Given the description of an element on the screen output the (x, y) to click on. 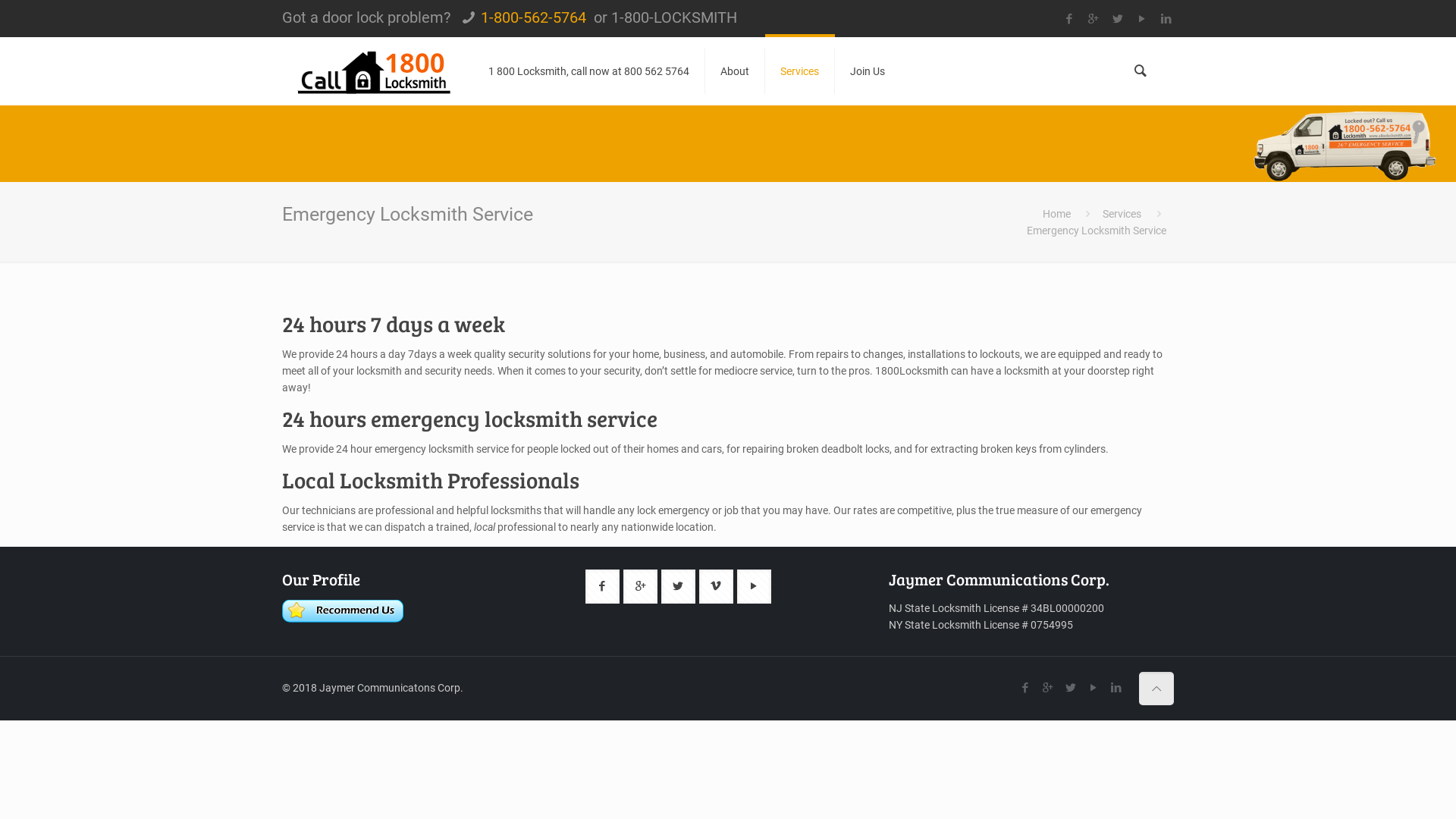
YouTube Element type: hover (1093, 687)
Join Us Element type: text (867, 71)
Services Element type: text (799, 71)
Home Element type: text (1056, 213)
Google+ Element type: hover (1093, 18)
Facebook Element type: hover (1024, 687)
YouTube Element type: hover (1141, 18)
Services Element type: text (1121, 213)
LinkedIn Element type: hover (1115, 687)
LinkedIn Element type: hover (1165, 18)
Facebook Element type: hover (1068, 18)
Twitter Element type: hover (1070, 687)
Google+ Element type: hover (1047, 687)
1-800-562-5764 Element type: text (533, 17)
Emergency Locksmith Service Element type: text (1096, 230)
Twitter Element type: hover (1117, 18)
1 800 Locksmith, call now at 800 562 5764 Element type: text (589, 71)
About Element type: text (735, 71)
